Given the description of an element on the screen output the (x, y) to click on. 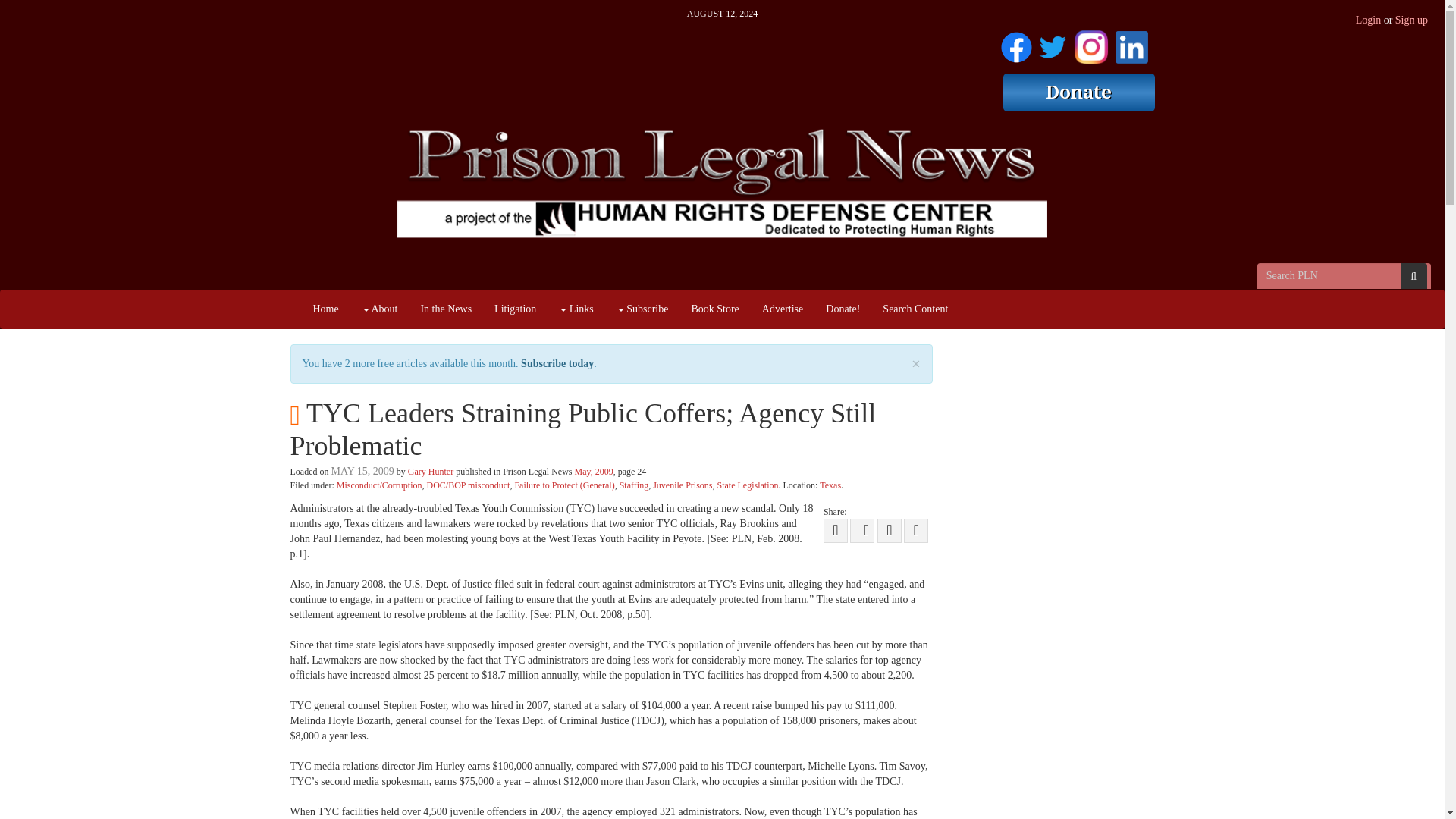
Gary Hunter (429, 471)
Sign up (1411, 19)
Subscribe (642, 309)
Links (575, 309)
Search (1413, 275)
Paul Wright's LinkedIn Page (1131, 44)
May, 2009 (593, 471)
Book Store (714, 309)
Donate! (841, 309)
HRDC Instagram Page (1091, 44)
